Given the description of an element on the screen output the (x, y) to click on. 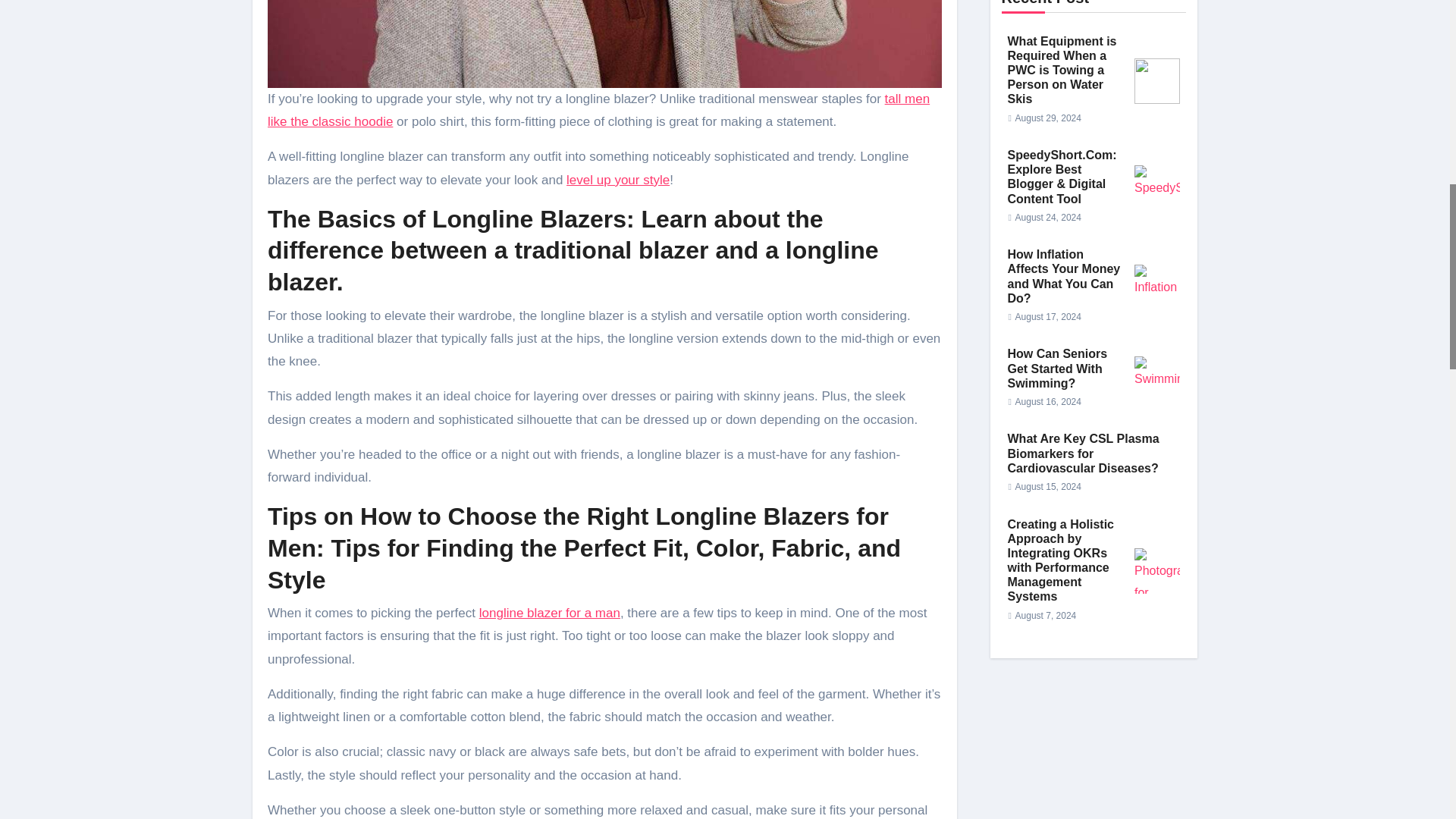
longline blazer for a man (549, 612)
level up your style (617, 179)
tall men like the classic hoodie (598, 109)
